Given the description of an element on the screen output the (x, y) to click on. 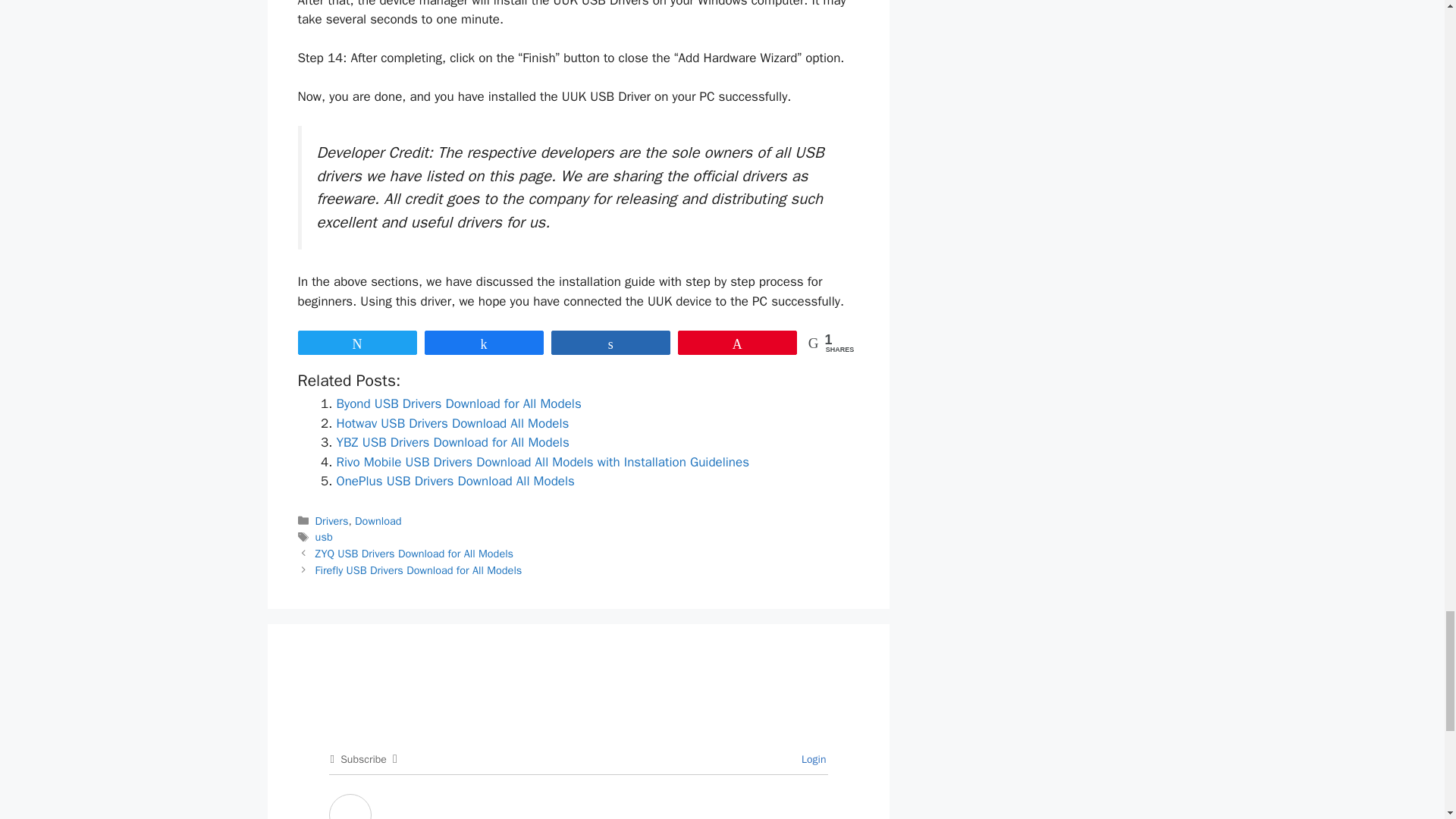
Hotwav USB Drivers Download All Models (452, 423)
YBZ USB Drivers Download for All Models (452, 442)
OnePlus USB Drivers Download All Models (455, 480)
Byond USB Drivers Download for All Models (458, 403)
